Given the description of an element on the screen output the (x, y) to click on. 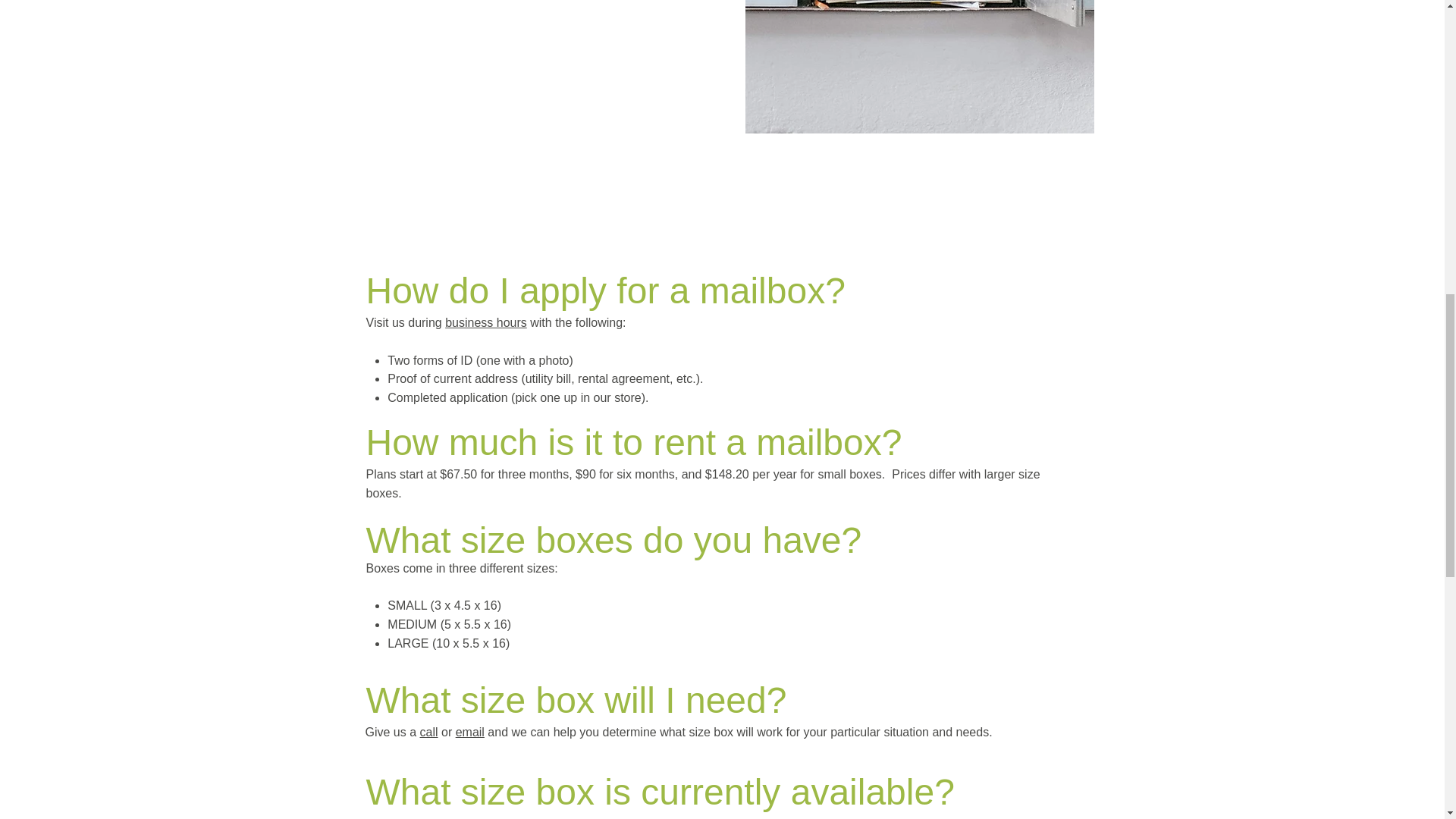
business hours (486, 322)
email (469, 731)
call (429, 731)
email (691, 818)
